Given the description of an element on the screen output the (x, y) to click on. 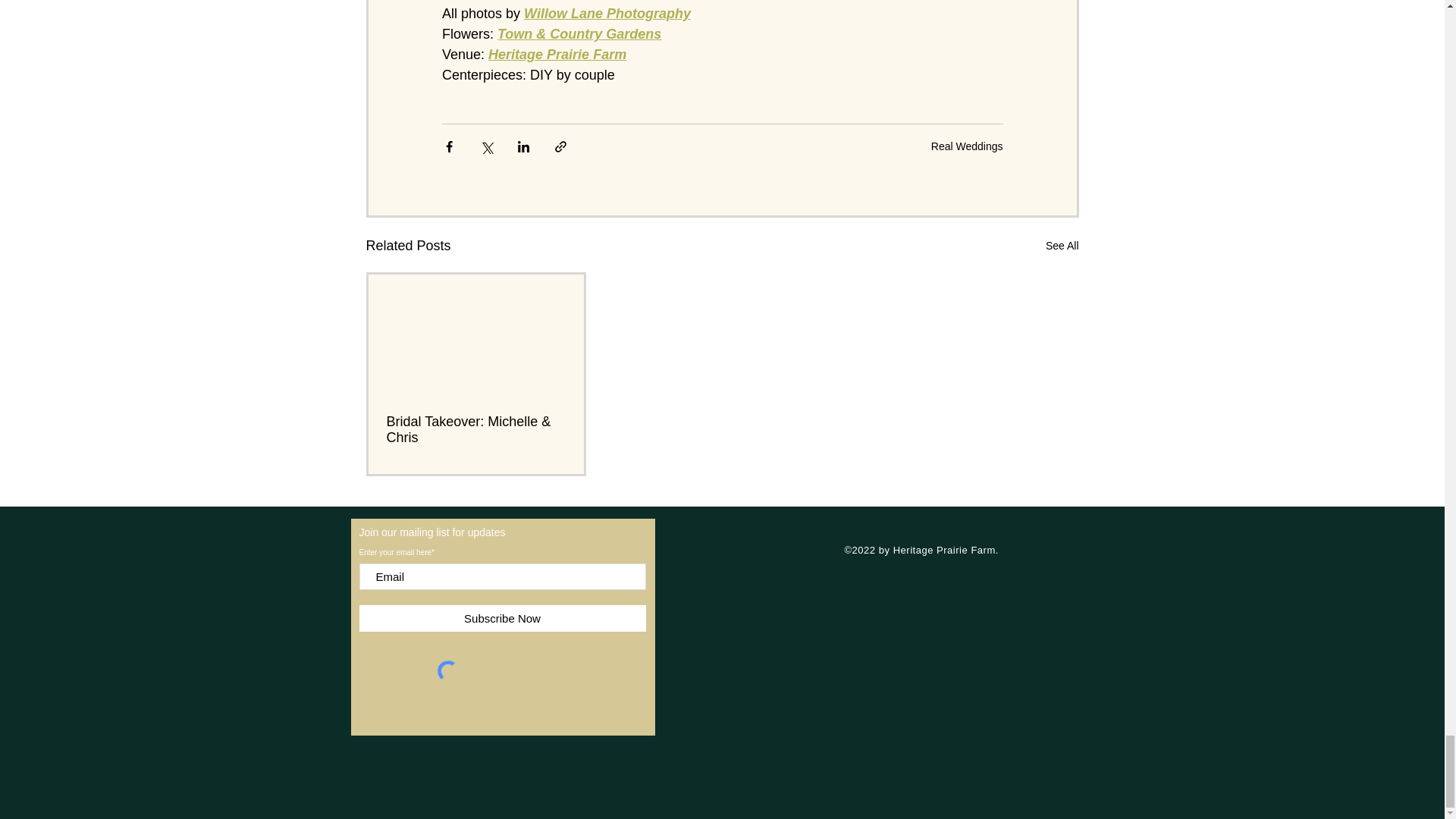
Willow Lane Photography (607, 13)
See All (1061, 246)
Real Weddings (967, 146)
Heritage Prairie Farm (556, 54)
